Given the description of an element on the screen output the (x, y) to click on. 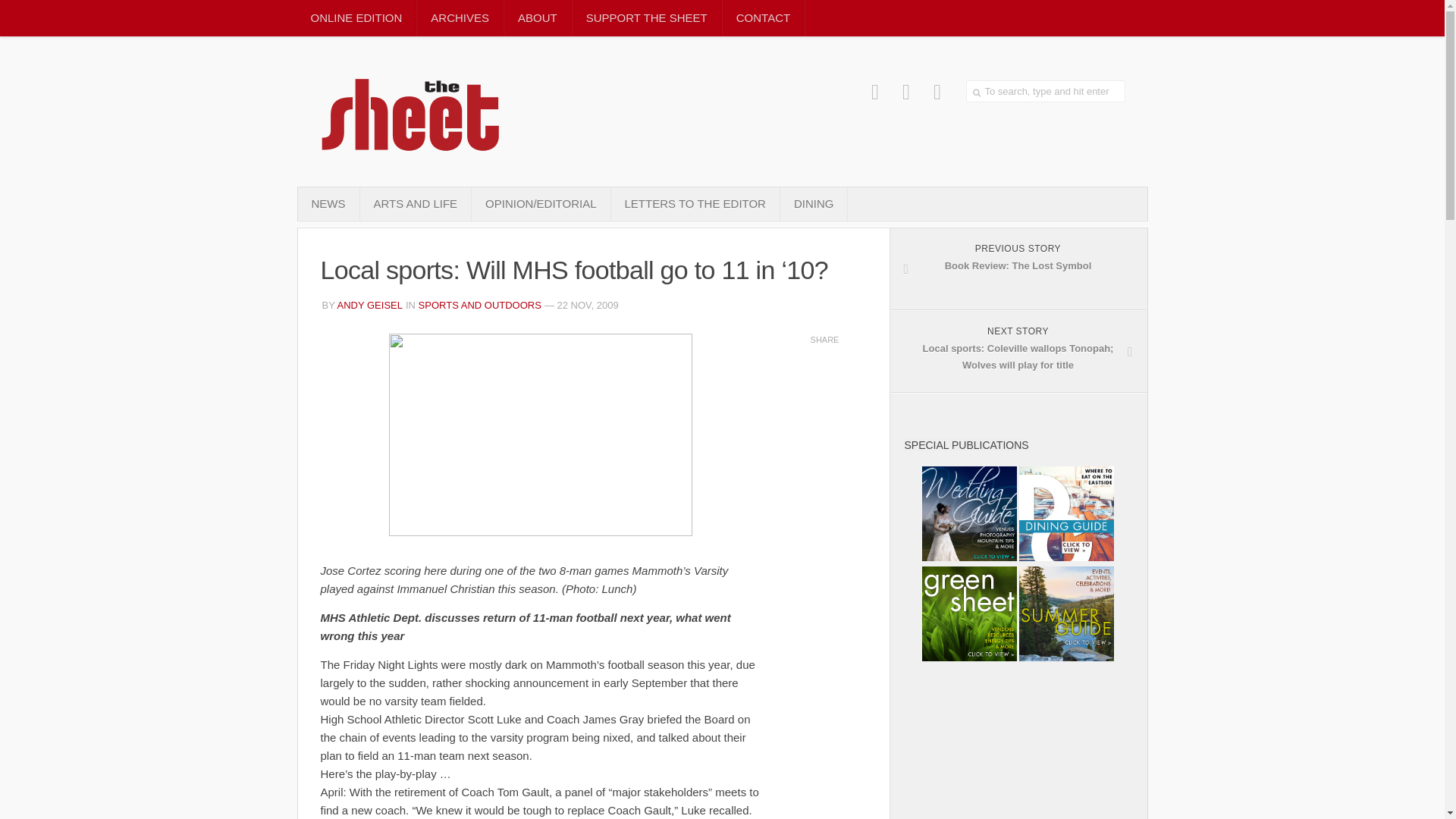
SUPPORT THE SHEET (1018, 269)
To search, type and hit enter (646, 18)
To search, type and hit enter (1045, 91)
Posts by Andy Geisel (1045, 91)
Follow The Sheet on Twitter (370, 305)
ARCHIVES (906, 92)
CONTACT (459, 18)
DINING (762, 18)
NEWS (813, 203)
RSS feed (327, 203)
ARTS AND LIFE (936, 92)
ABOUT (414, 203)
The Sheet on Facebook (536, 18)
